Given the description of an element on the screen output the (x, y) to click on. 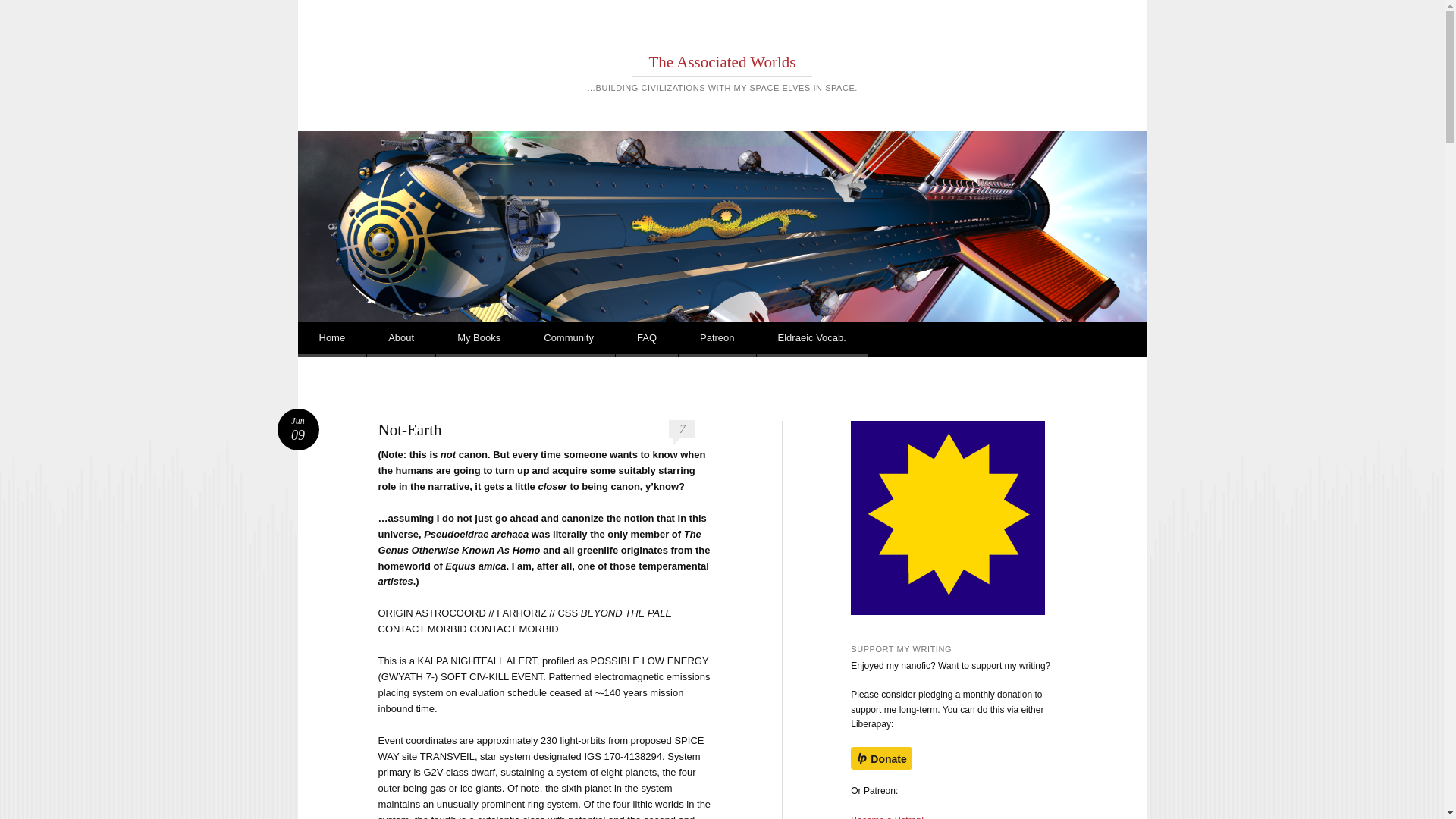
About (400, 339)
Skip to content (350, 339)
Skip to content (350, 339)
7 (681, 429)
Eldraeic Vocab. (812, 339)
Become a Patron! (298, 429)
Patreon (886, 816)
Home (716, 339)
FAQ (331, 339)
